Given the description of an element on the screen output the (x, y) to click on. 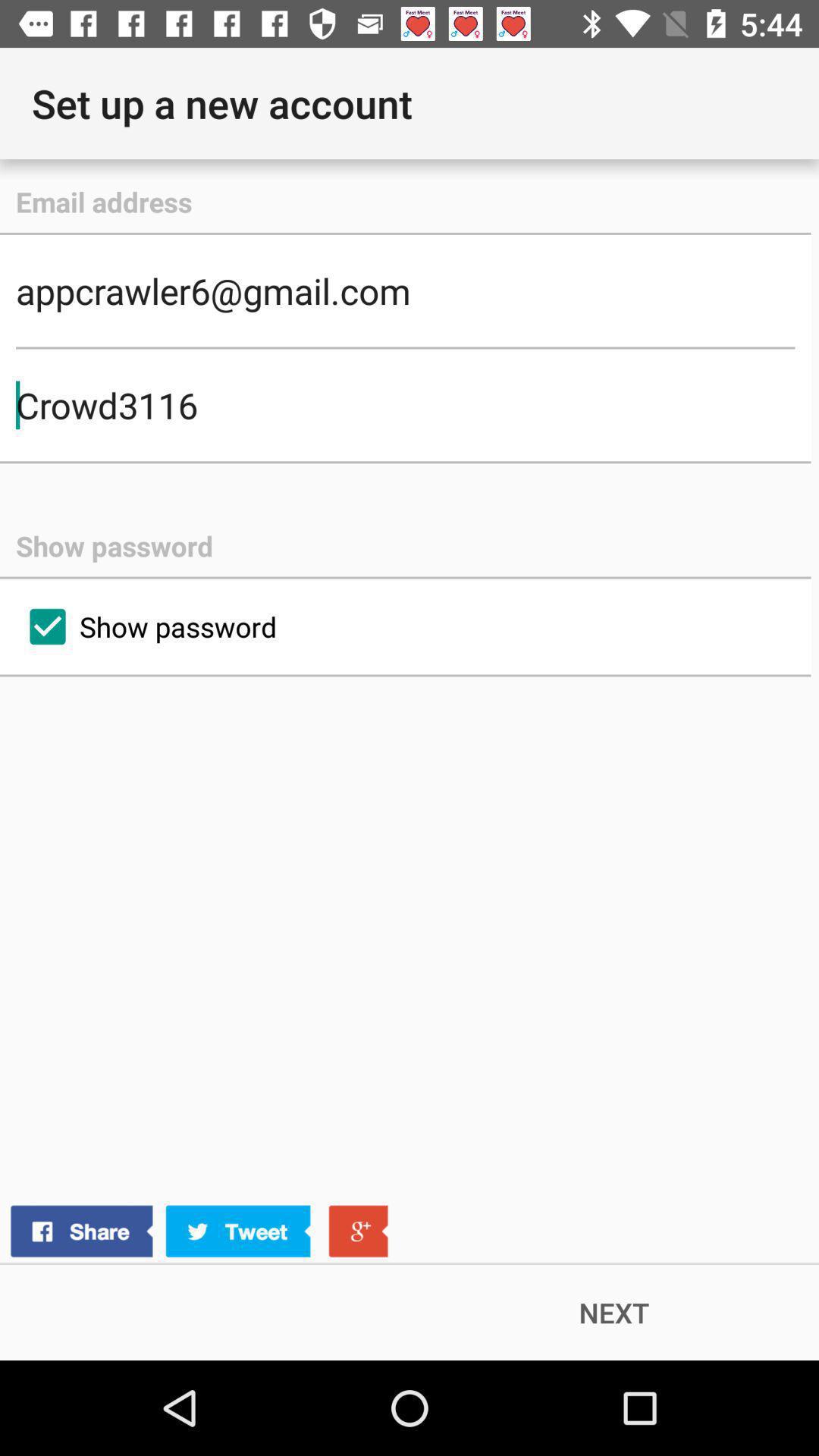
jump to the next (614, 1312)
